Given the description of an element on the screen output the (x, y) to click on. 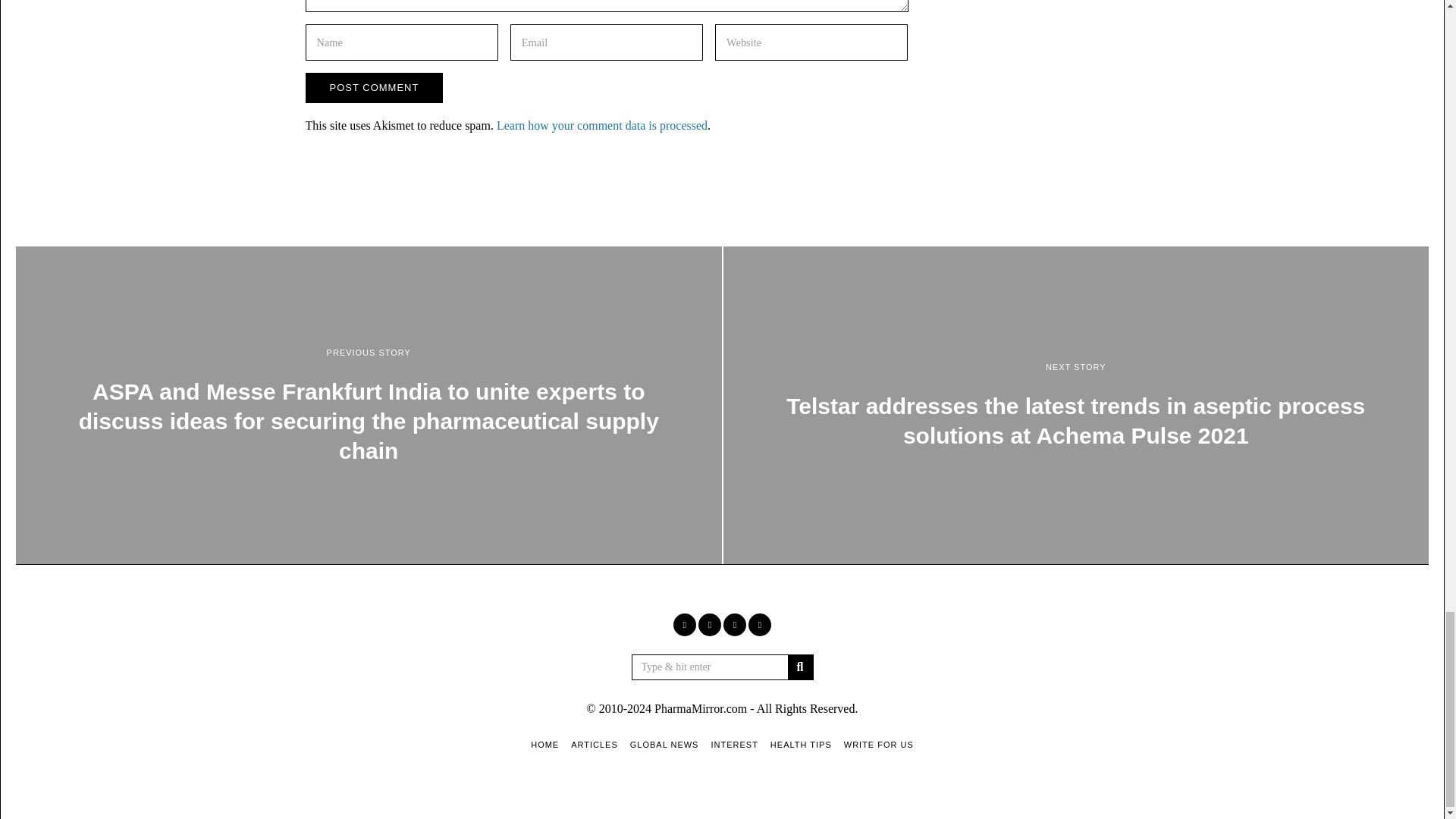
Post Comment (373, 87)
Facebook (683, 624)
Post Comment (373, 87)
Learn how your comment data is processed (601, 124)
Twitter (709, 624)
LinkedIn (734, 624)
Go (799, 667)
Email (759, 624)
